Given the description of an element on the screen output the (x, y) to click on. 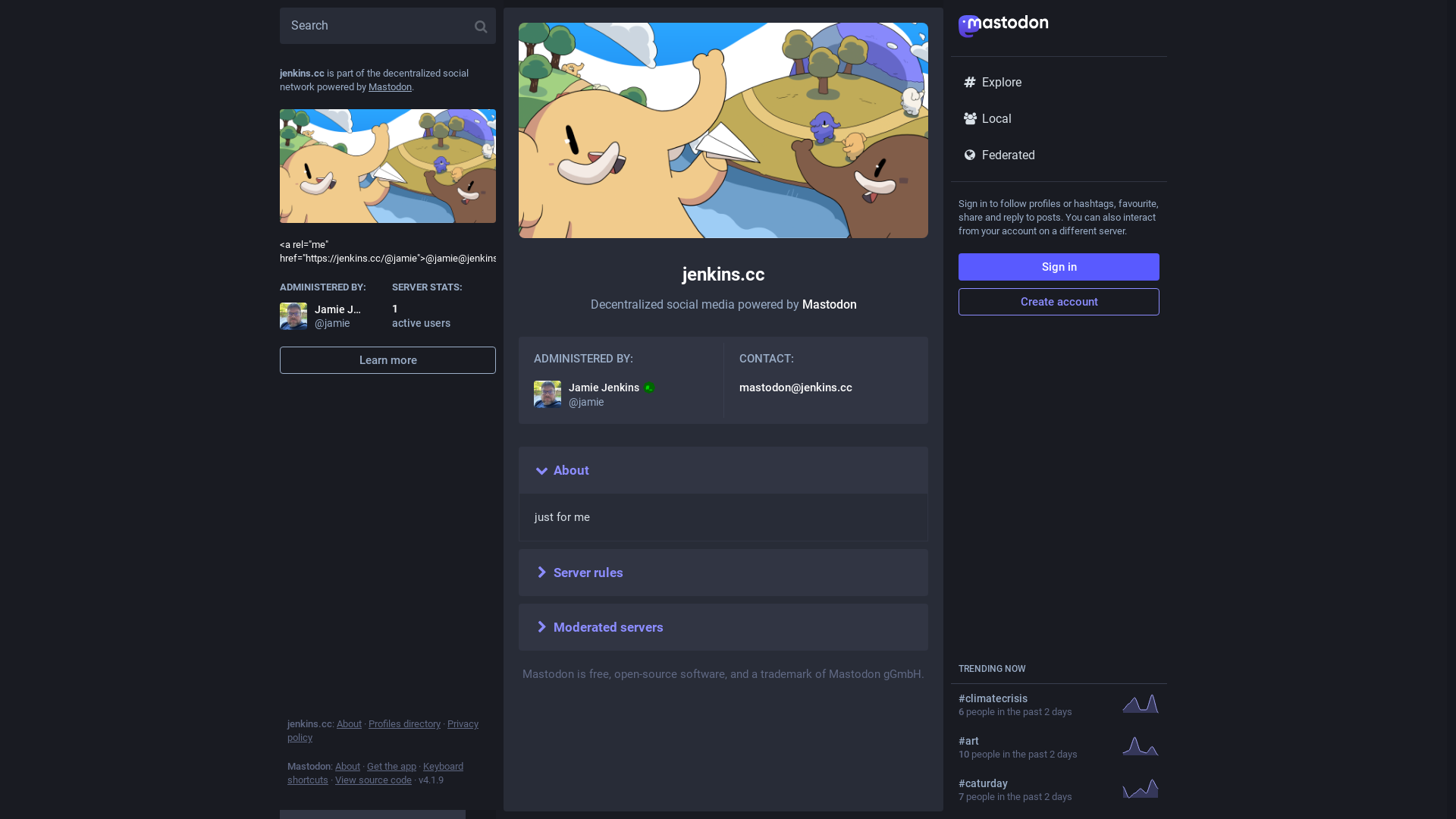
:verified_root: Element type: hover (649, 387)
Get the app Element type: text (391, 765)
Federated Element type: text (1058, 155)
Jamie Jenkins
@jamie Element type: text (620, 393)
View source code Element type: text (373, 779)
Explore Element type: text (1058, 82)
Jamie Jenkins
@jamie Element type: text (320, 315)
About Element type: text (347, 765)
Mastodon Element type: text (389, 86)
Mastodon Element type: text (829, 304)
About Element type: text (348, 723)
mastodon@jenkins.cc Element type: text (794, 387)
Learn more Element type: text (387, 359)
Local Element type: text (1058, 118)
#climatecrisis Element type: text (1034, 698)
Privacy policy Element type: text (382, 730)
#art Element type: text (1034, 740)
Create account Element type: text (1058, 301)
TRENDING NOW Element type: text (992, 668)
Profiles directory Element type: text (404, 723)
#caturday Element type: text (1034, 783)
Sign in Element type: text (1058, 266)
Keyboard shortcuts Element type: text (375, 772)
